Given the description of an element on the screen output the (x, y) to click on. 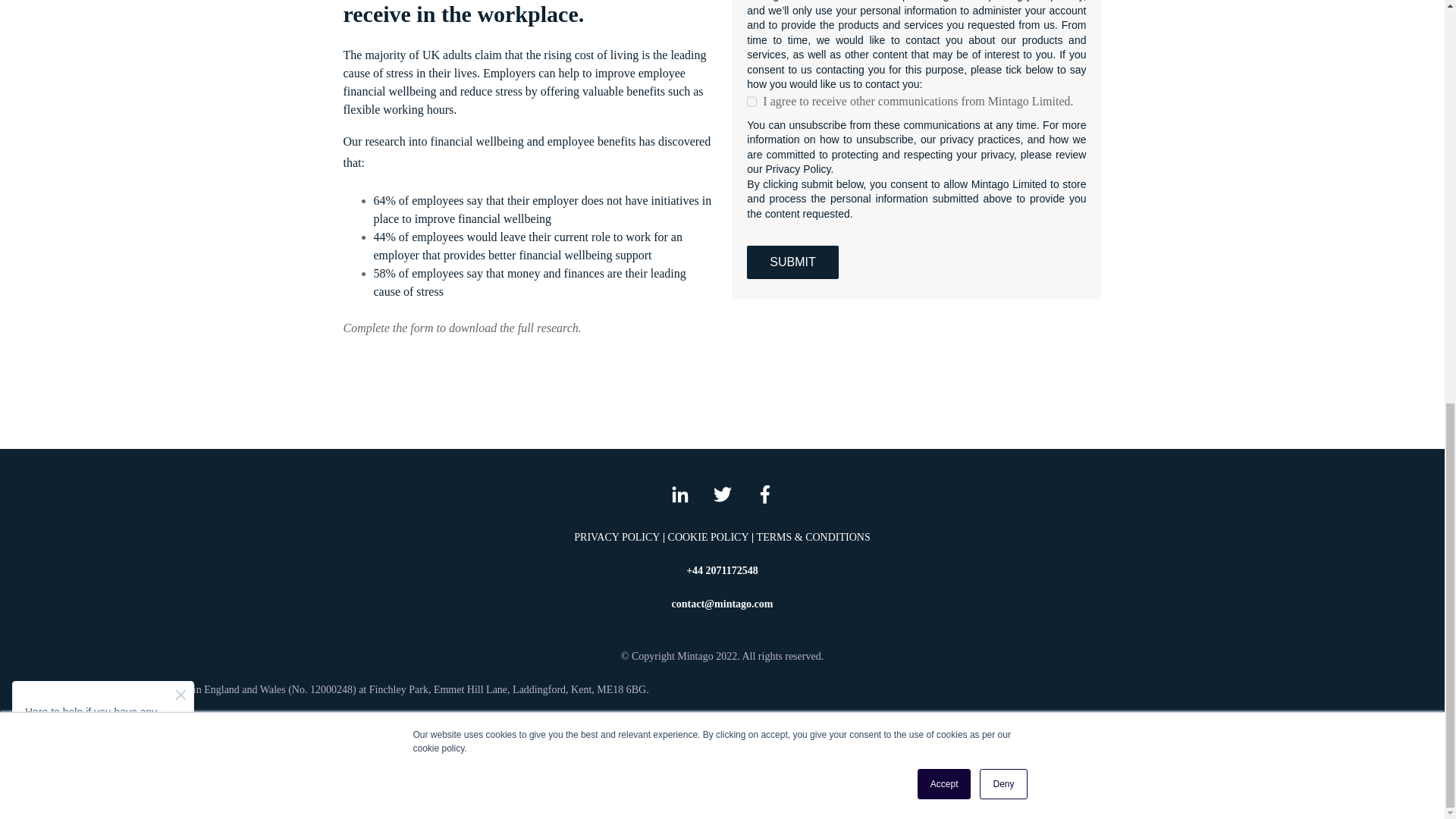
Deny (1002, 2)
Submit (792, 262)
PRIVACY POLICY (616, 536)
Submit (792, 262)
Chat Widget (103, 12)
Accept (944, 2)
COOKIE POLICY (708, 536)
